Given the description of an element on the screen output the (x, y) to click on. 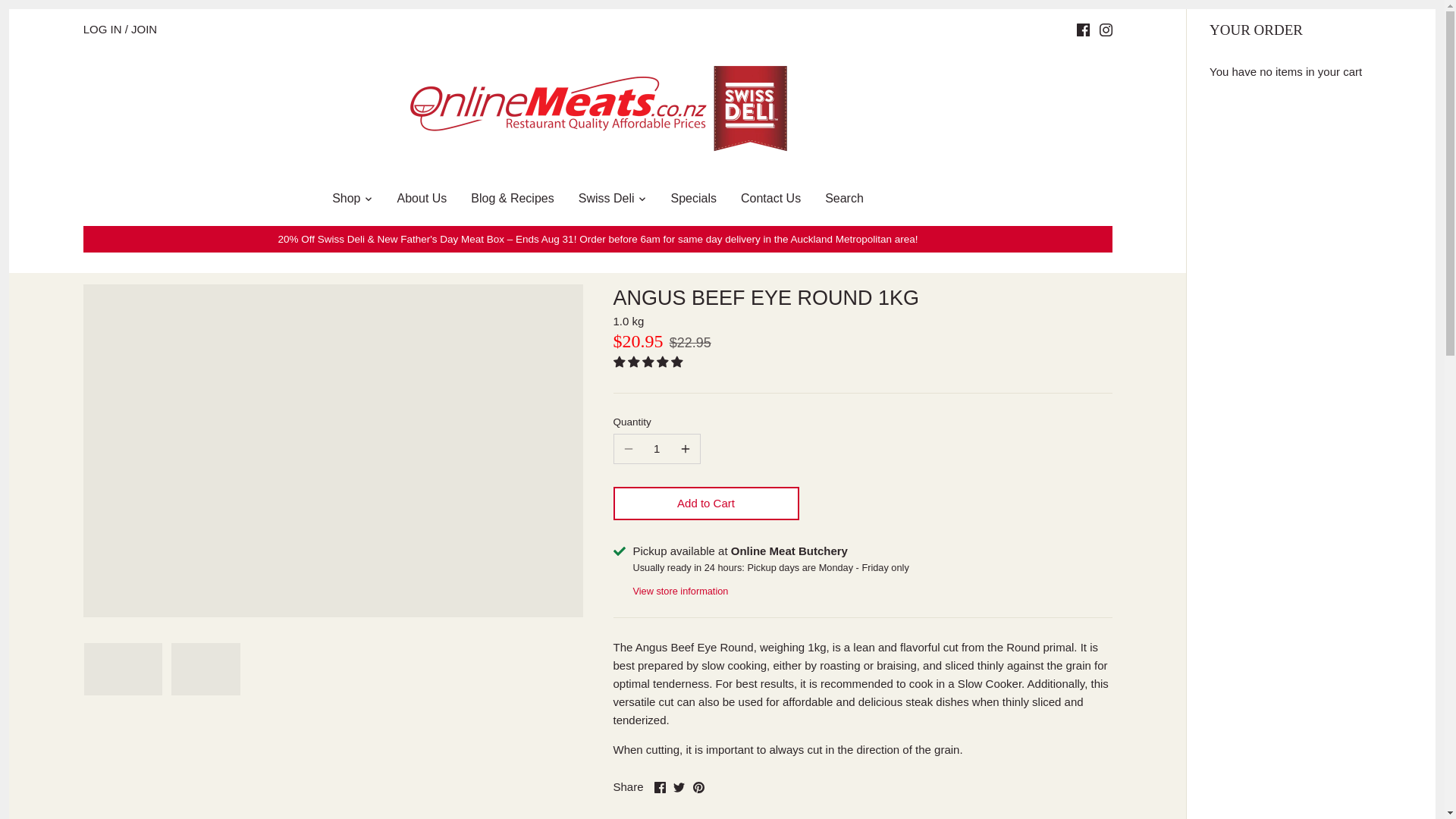
1 (657, 448)
FACEBOOK (1083, 29)
LOG IN (102, 29)
Shop (346, 200)
JOIN (144, 29)
INSTAGRAM (1105, 29)
Twitter (678, 787)
Pinterest (698, 787)
Facebook (659, 787)
